Given the description of an element on the screen output the (x, y) to click on. 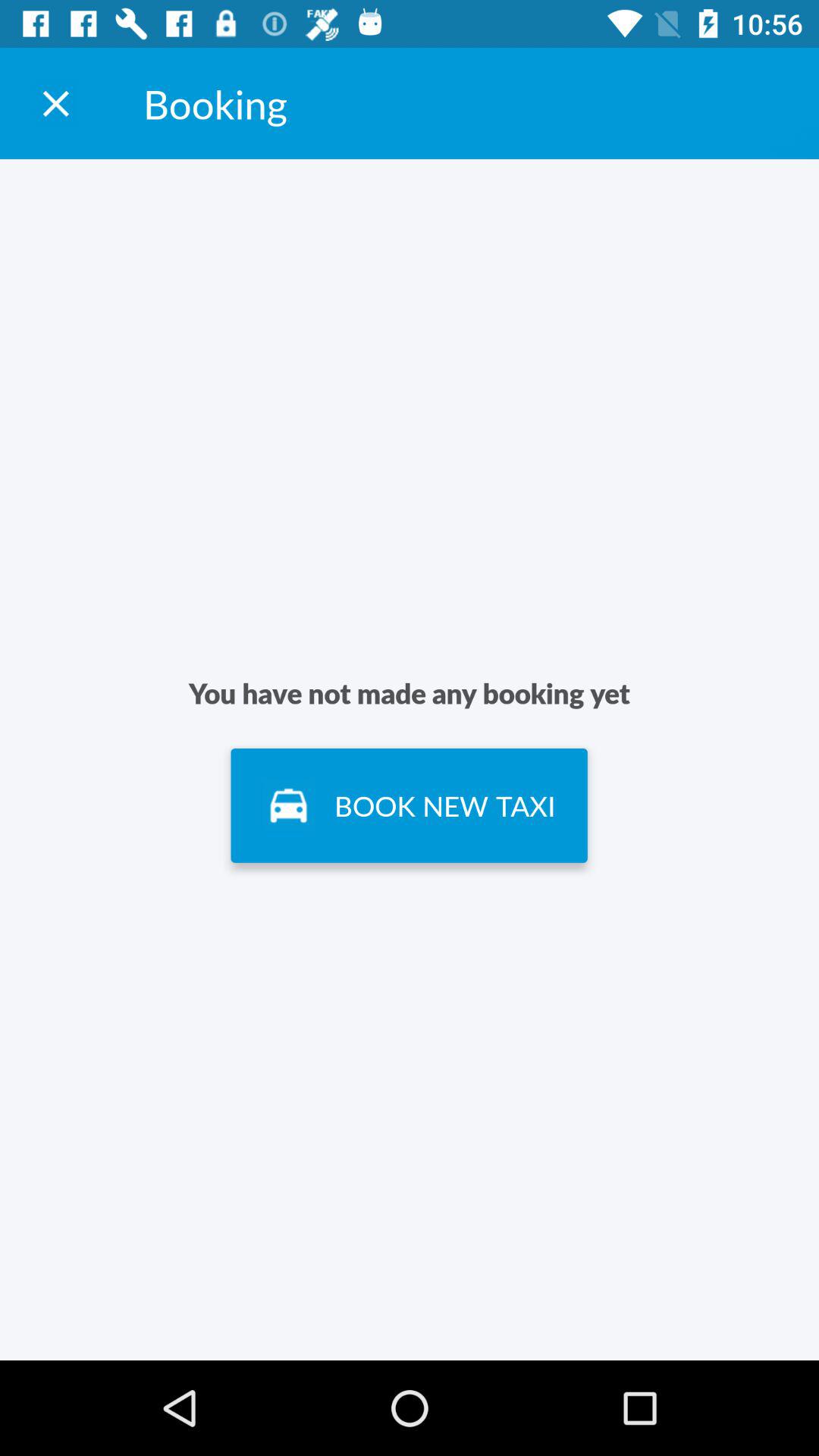
turn on item to the left of booking (55, 103)
